Given the description of an element on the screen output the (x, y) to click on. 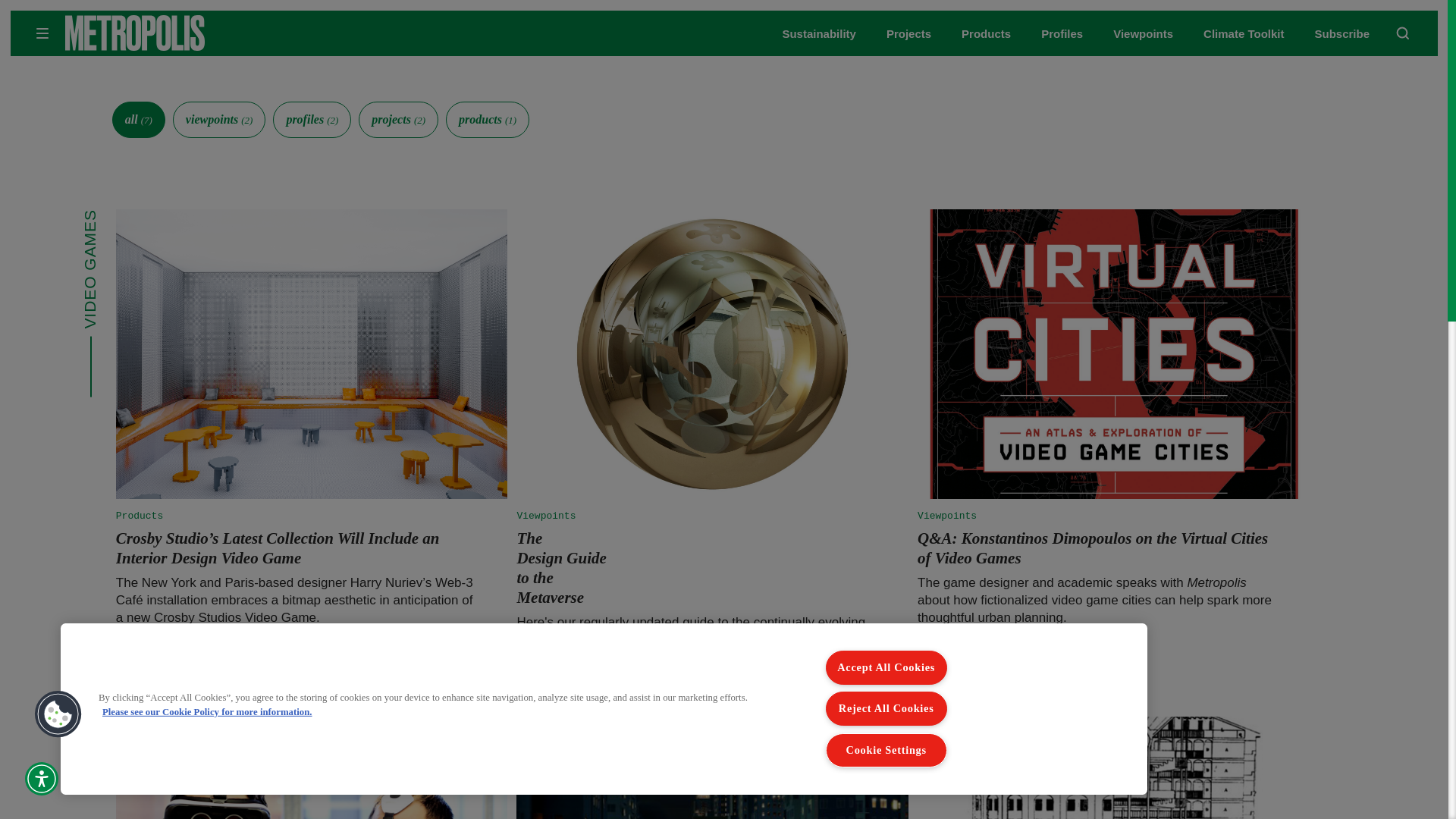
Sustainability (818, 33)
METROPOLIS (181, 33)
Cookies Button (57, 714)
Projects (908, 33)
Products (985, 33)
Climate Toolkit (1244, 33)
Accessibility Menu (41, 778)
Profiles (1062, 33)
Subscribe (1342, 33)
Viewpoints (1143, 33)
